Given the description of an element on the screen output the (x, y) to click on. 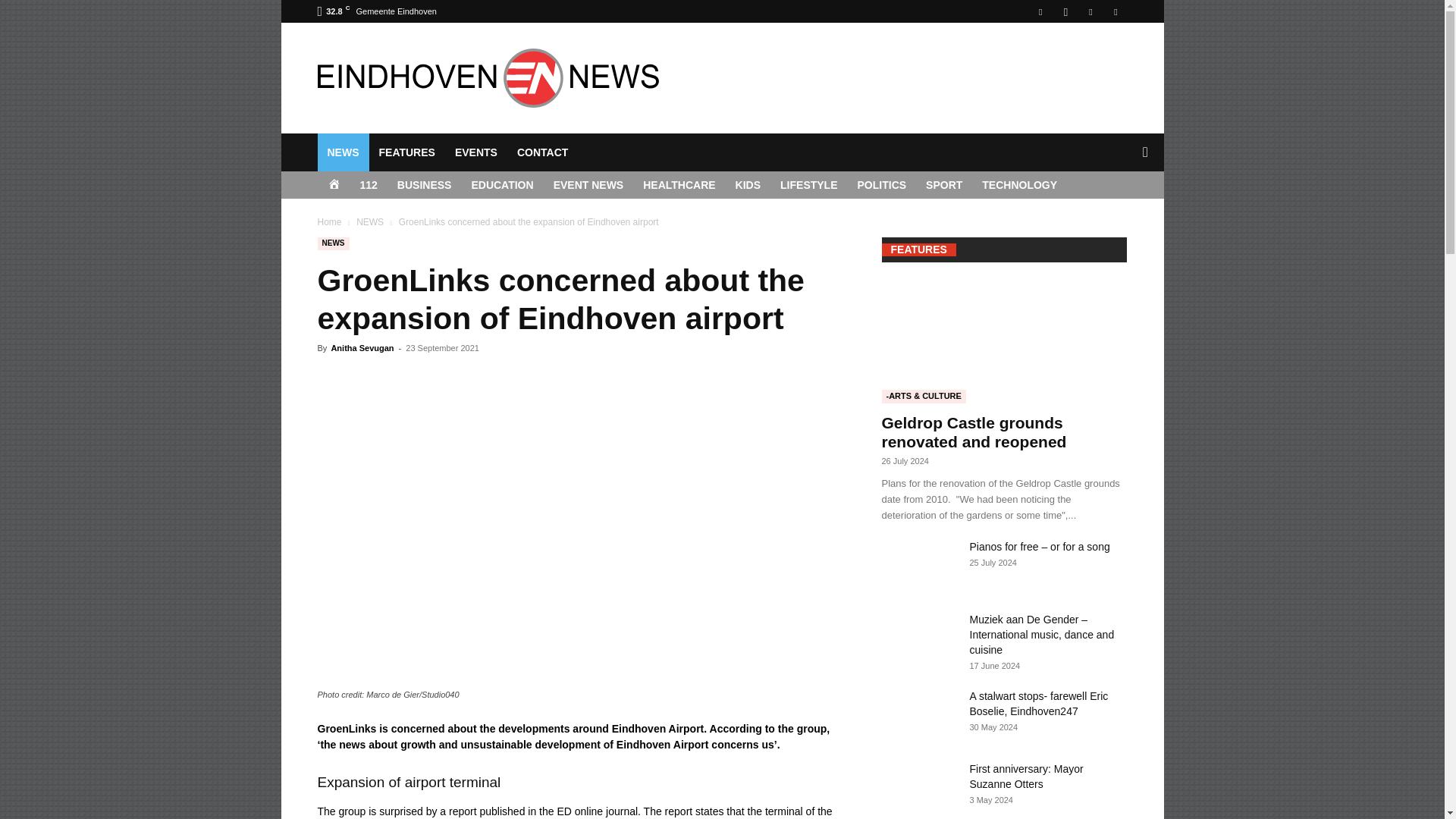
EVENTS (475, 152)
Linkedin (1090, 11)
CONTACT (542, 152)
Facebook (1040, 11)
112 (368, 185)
HEALTHCARE (679, 185)
Instagram (1065, 11)
BUSINESS (424, 185)
Twitter (1114, 11)
